Given the description of an element on the screen output the (x, y) to click on. 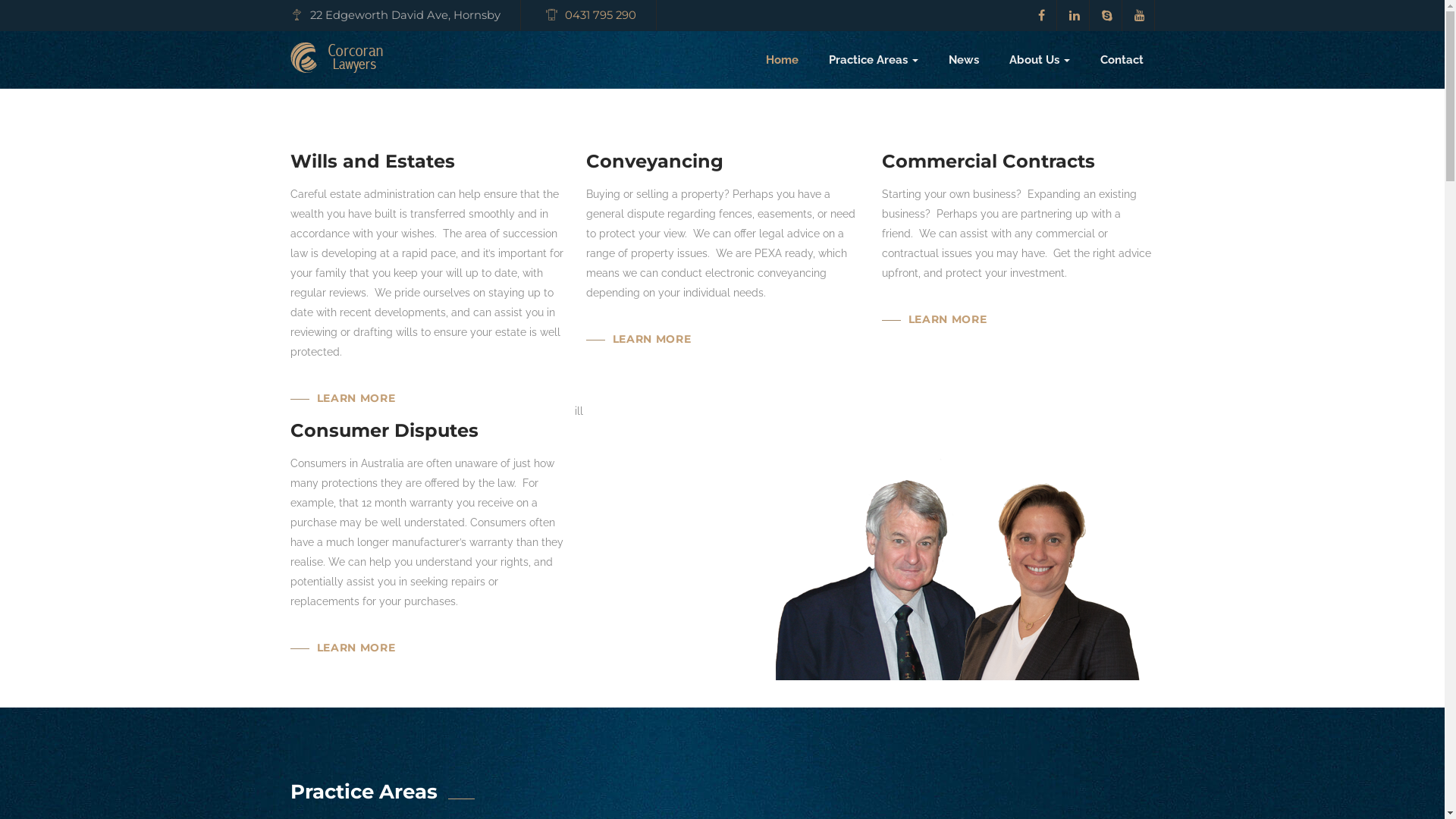
About Us Element type: text (1038, 59)
Conveyancing Element type: text (653, 161)
Home Element type: text (781, 59)
Linkedin Element type: hover (1074, 15)
Wills and Estates Element type: text (371, 161)
Facebook Element type: hover (1041, 15)
Skype Element type: hover (1106, 15)
Consumer Disputes Element type: text (383, 430)
LEARN MORE Element type: text (355, 633)
0431 795 290 Element type: text (599, 14)
Youtube Element type: hover (1139, 15)
LEARN MORE Element type: text (651, 325)
LEARN MORE Element type: text (355, 384)
LEARN MORE Element type: text (947, 305)
News Element type: text (962, 59)
Commercial Contracts Element type: text (987, 161)
Contact Element type: text (1113, 59)
Practice Areas Element type: text (872, 59)
